Given the description of an element on the screen output the (x, y) to click on. 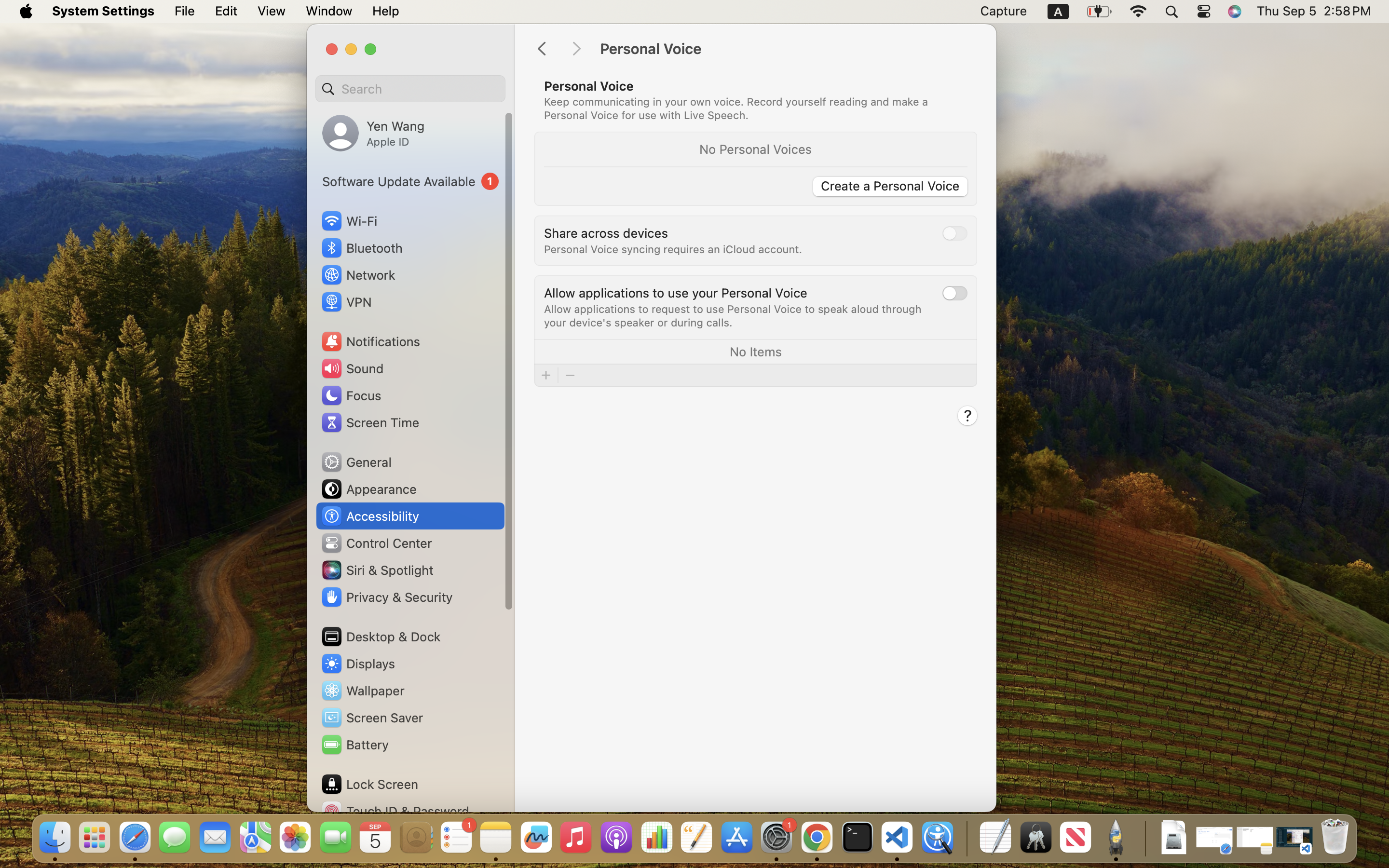
No Items Element type: AXStaticText (755, 350)
Bluetooth Element type: AXStaticText (361, 247)
Touch ID & Password Element type: AXStaticText (394, 810)
Focus Element type: AXStaticText (350, 394)
Yen Wang, Apple ID Element type: AXStaticText (373, 132)
